Given the description of an element on the screen output the (x, y) to click on. 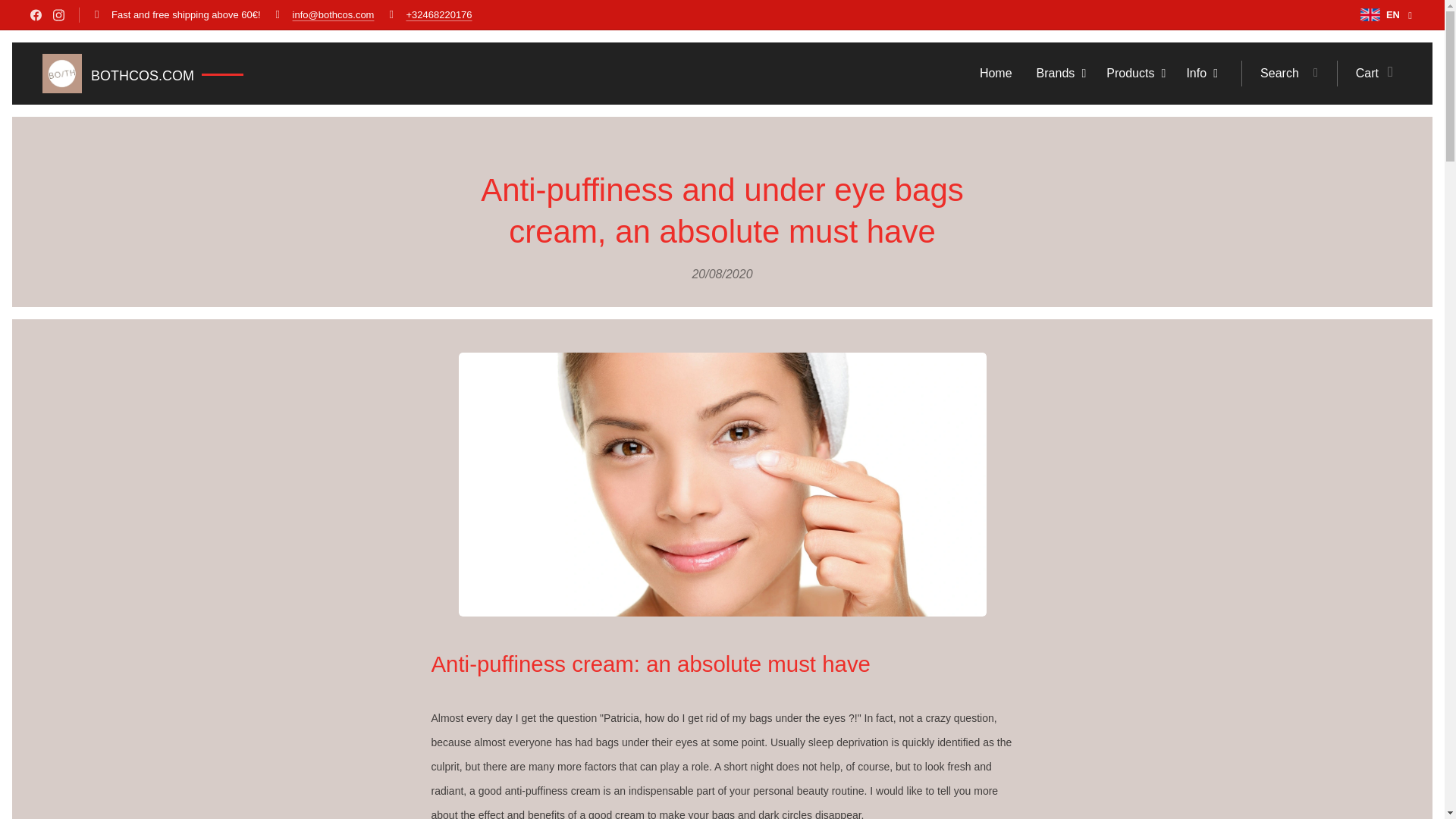
Cart (1369, 73)
Home (1000, 73)
Brands (1059, 73)
BOTHCOS.COM (142, 73)
